Given the description of an element on the screen output the (x, y) to click on. 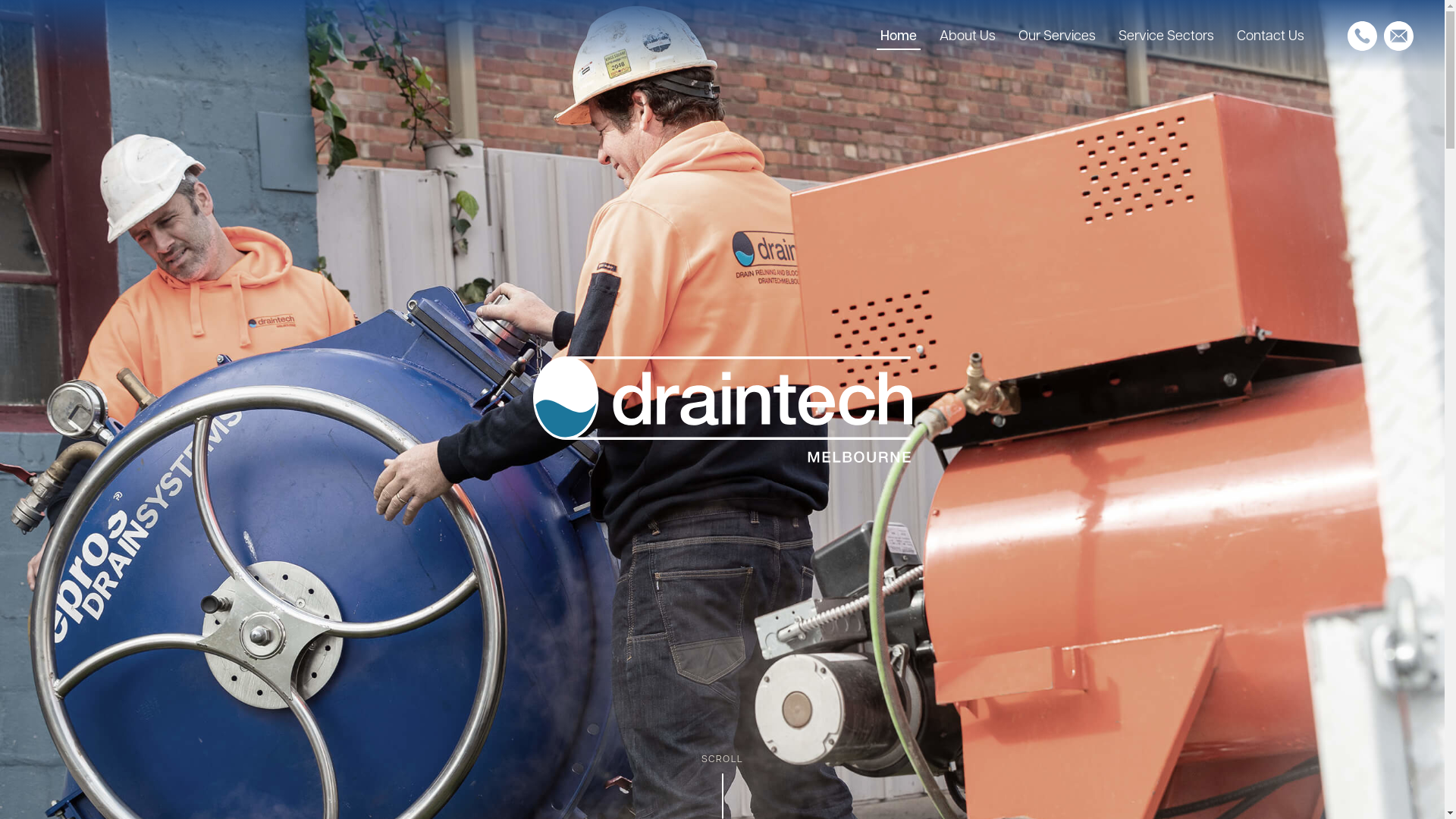
About Us Element type: text (967, 36)
Draintech Melbourne | Plumbing Element type: text (721, 409)
Home Element type: text (898, 36)
Contact Us Element type: text (1270, 36)
Our Services Element type: text (1056, 36)
Service Sectors Element type: text (1165, 36)
